Given the description of an element on the screen output the (x, y) to click on. 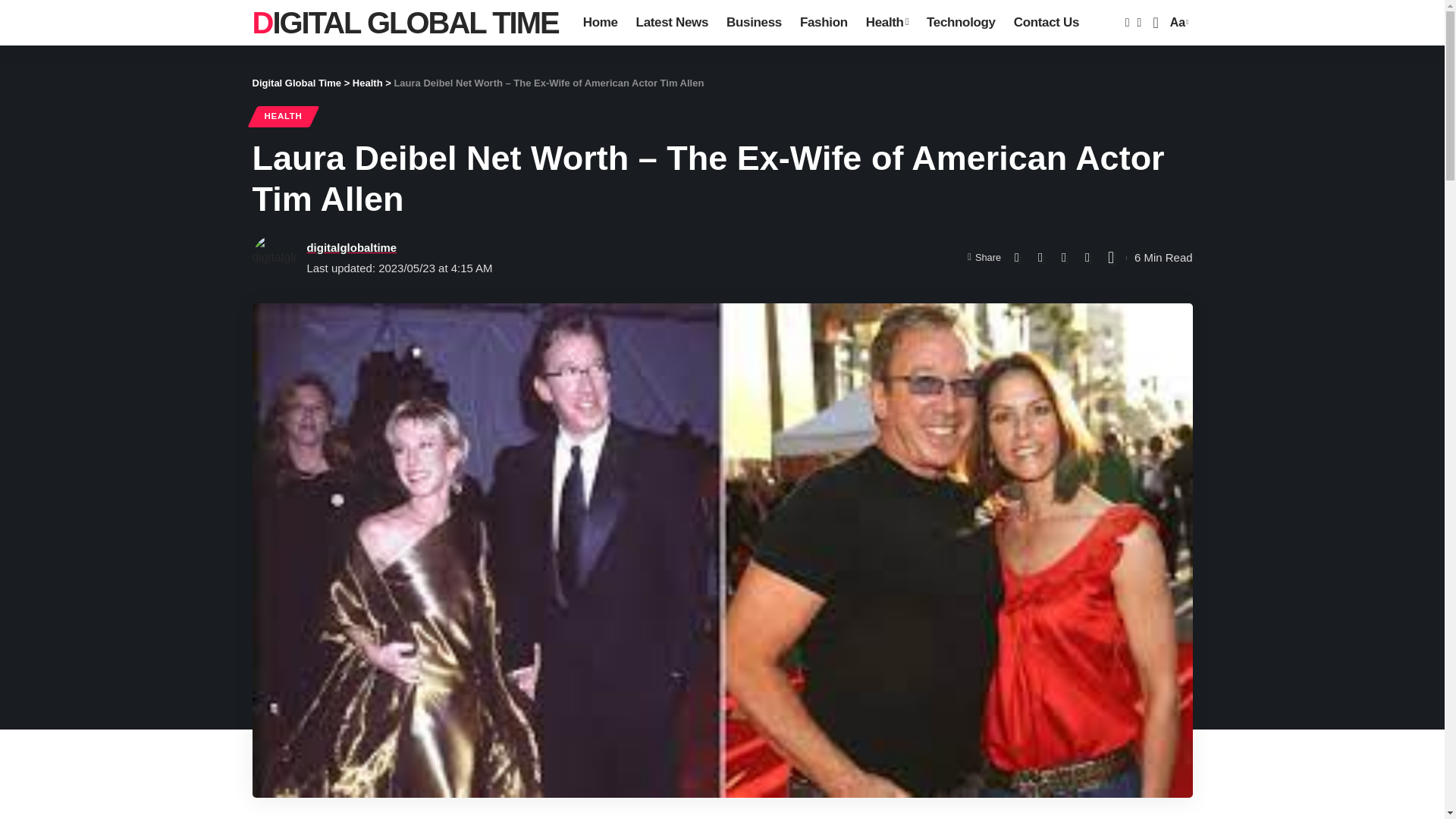
Digital Global Time (295, 82)
Technology (960, 22)
Go to Digital Global Time. (295, 82)
DIGITAL GLOBAL TIME (404, 22)
Contact Us (1045, 22)
Home (600, 22)
digitalglobaltime (1177, 22)
Digital Global Time (350, 247)
Health (404, 22)
Business (367, 82)
Fashion (753, 22)
HEALTH (823, 22)
Health (282, 116)
Latest News (887, 22)
